Given the description of an element on the screen output the (x, y) to click on. 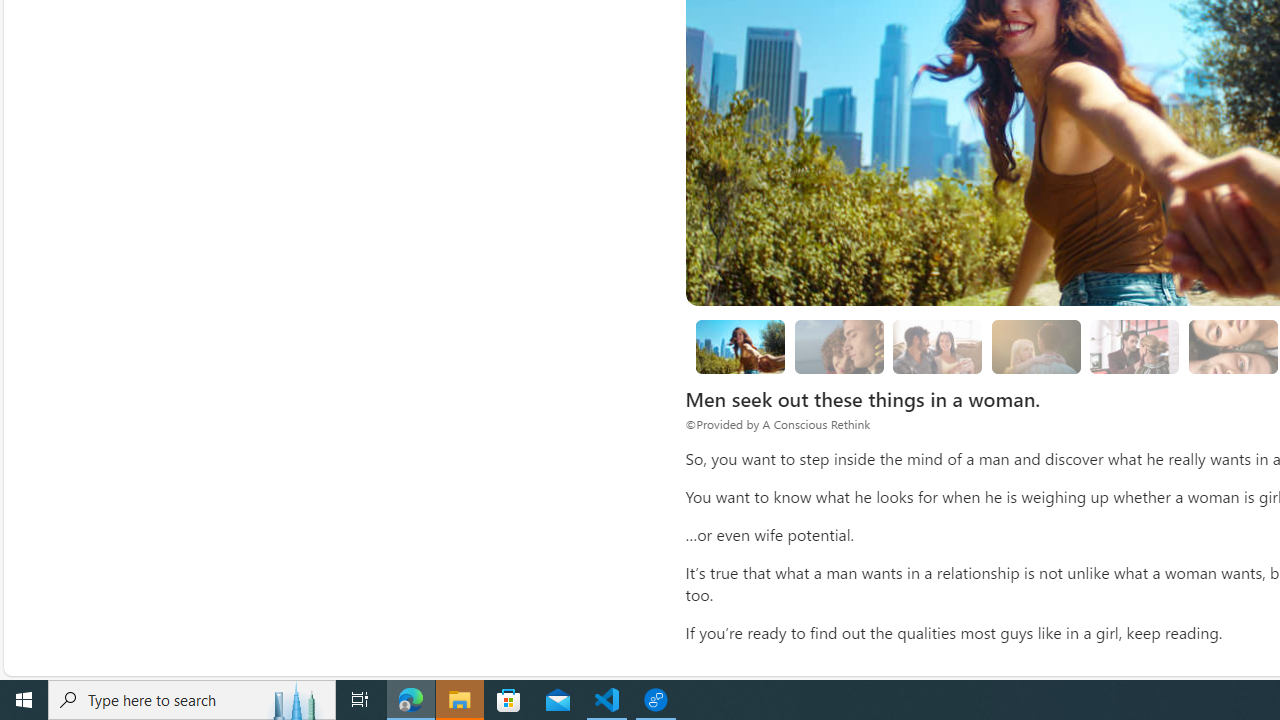
3. She is appreciative. (1035, 346)
4. She is supportive. (1134, 346)
2. She is accepting. (937, 346)
5. She is independent. (1232, 346)
Men seek out these things in a woman. (740, 346)
3. She is appreciative. (1035, 346)
4. She is supportive. (1135, 346)
2. She is accepting. (938, 346)
Men seek out these things in a woman. (740, 346)
1. She is compassionate. (838, 346)
1. She is compassionate. (838, 346)
Class: progress (1134, 343)
